Given the description of an element on the screen output the (x, y) to click on. 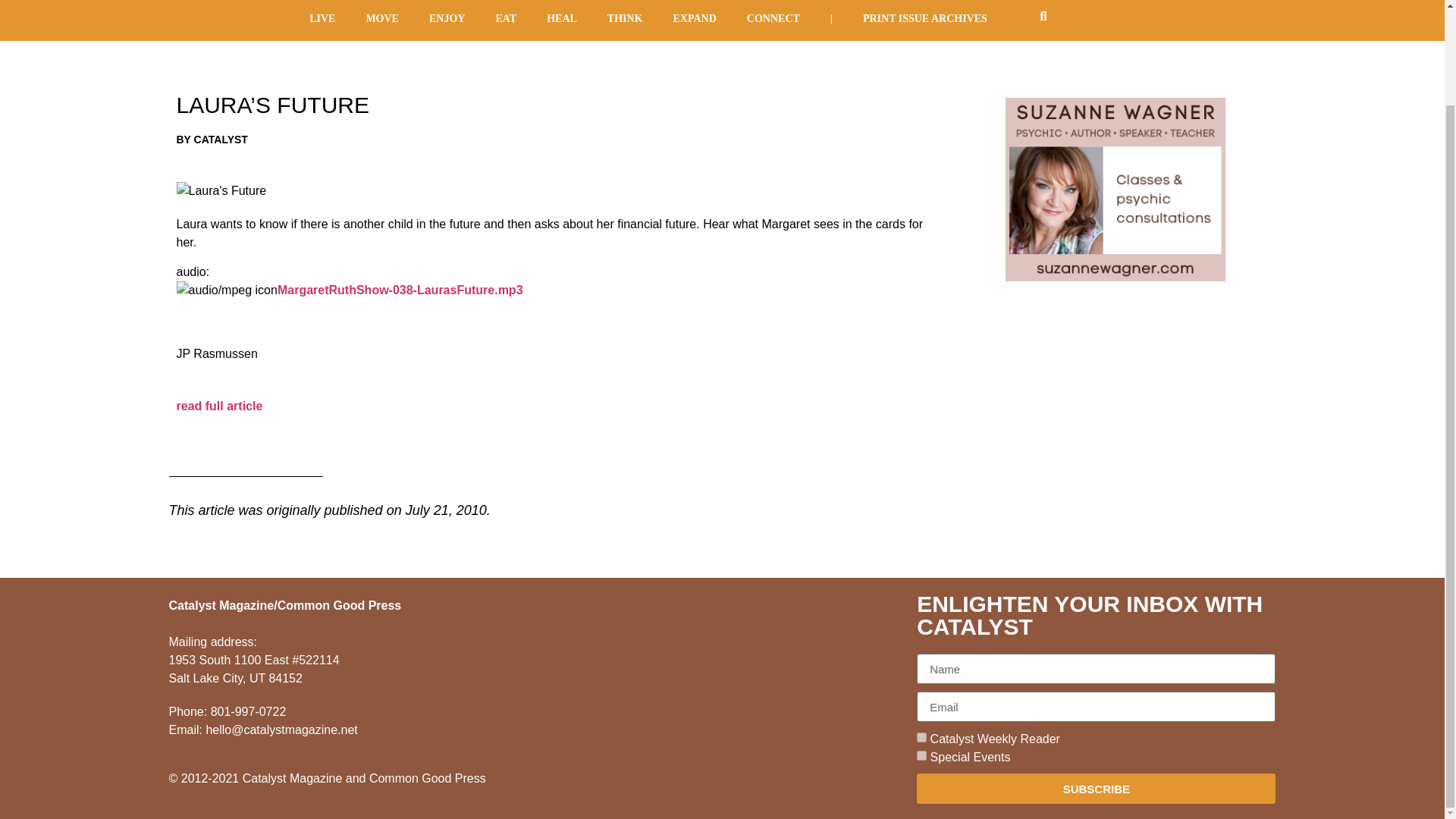
Special Events (921, 755)
Catalyst Weekly Reader (921, 737)
